Given the description of an element on the screen output the (x, y) to click on. 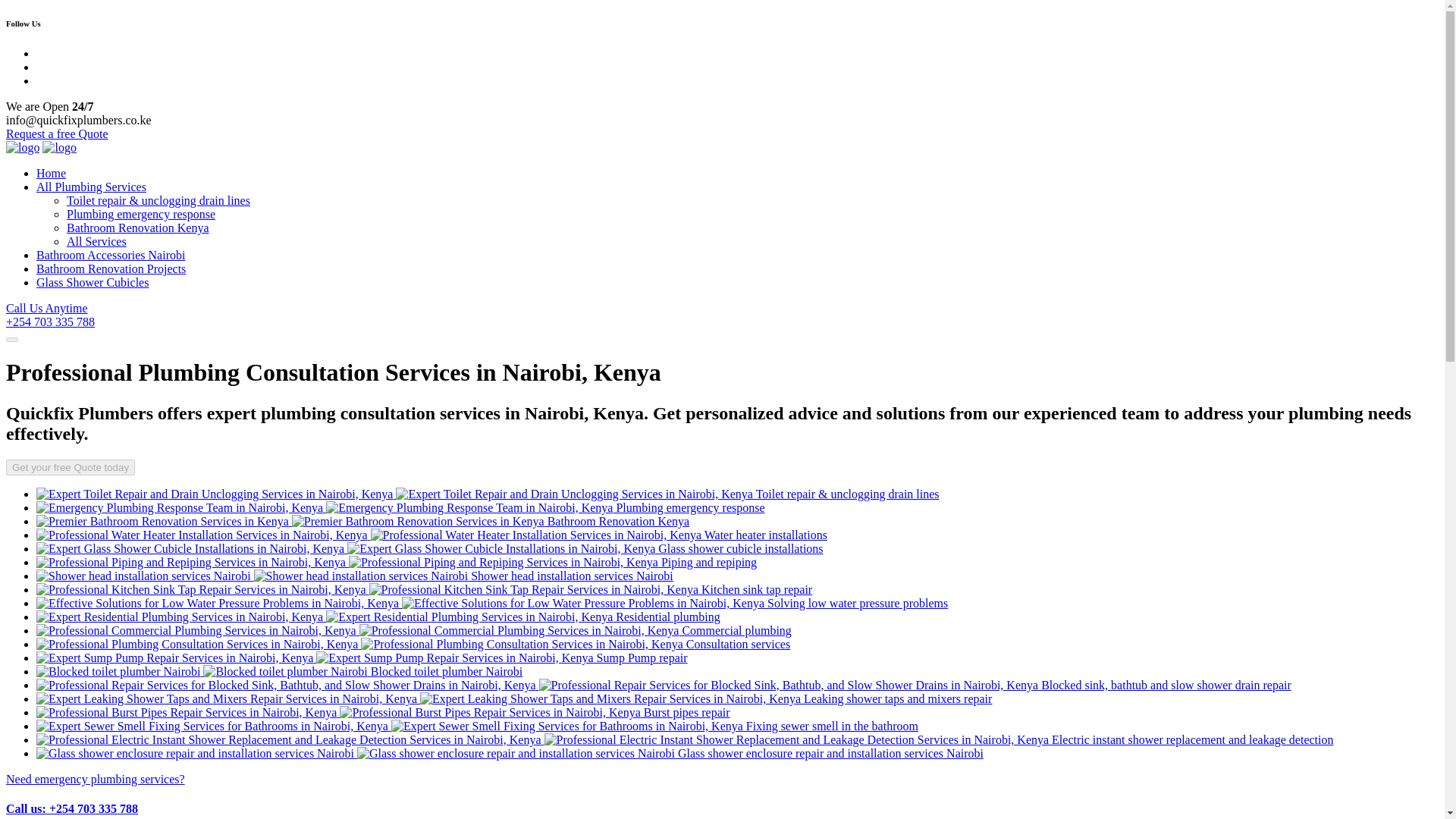
Water heater installations (431, 534)
Solving low water pressure problems (491, 603)
Kitchen sink tap repair (424, 589)
Request a free Quote (56, 133)
Glass Shower Cubicles (92, 282)
All Plumbing Services (91, 186)
Home (50, 173)
Burst pipes repair (383, 712)
Residential plumbing (378, 616)
